Given the description of an element on the screen output the (x, y) to click on. 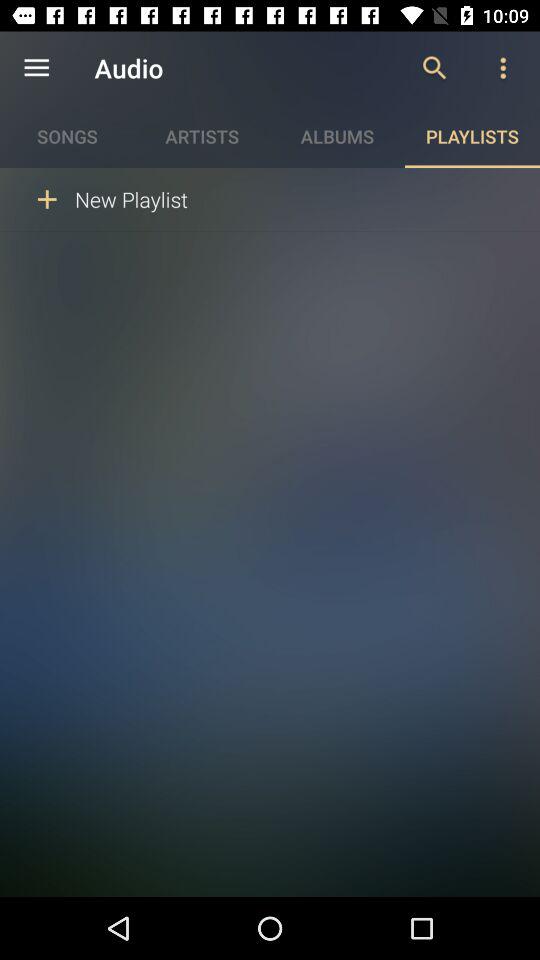
choose item above the songs (36, 68)
